Given the description of an element on the screen output the (x, y) to click on. 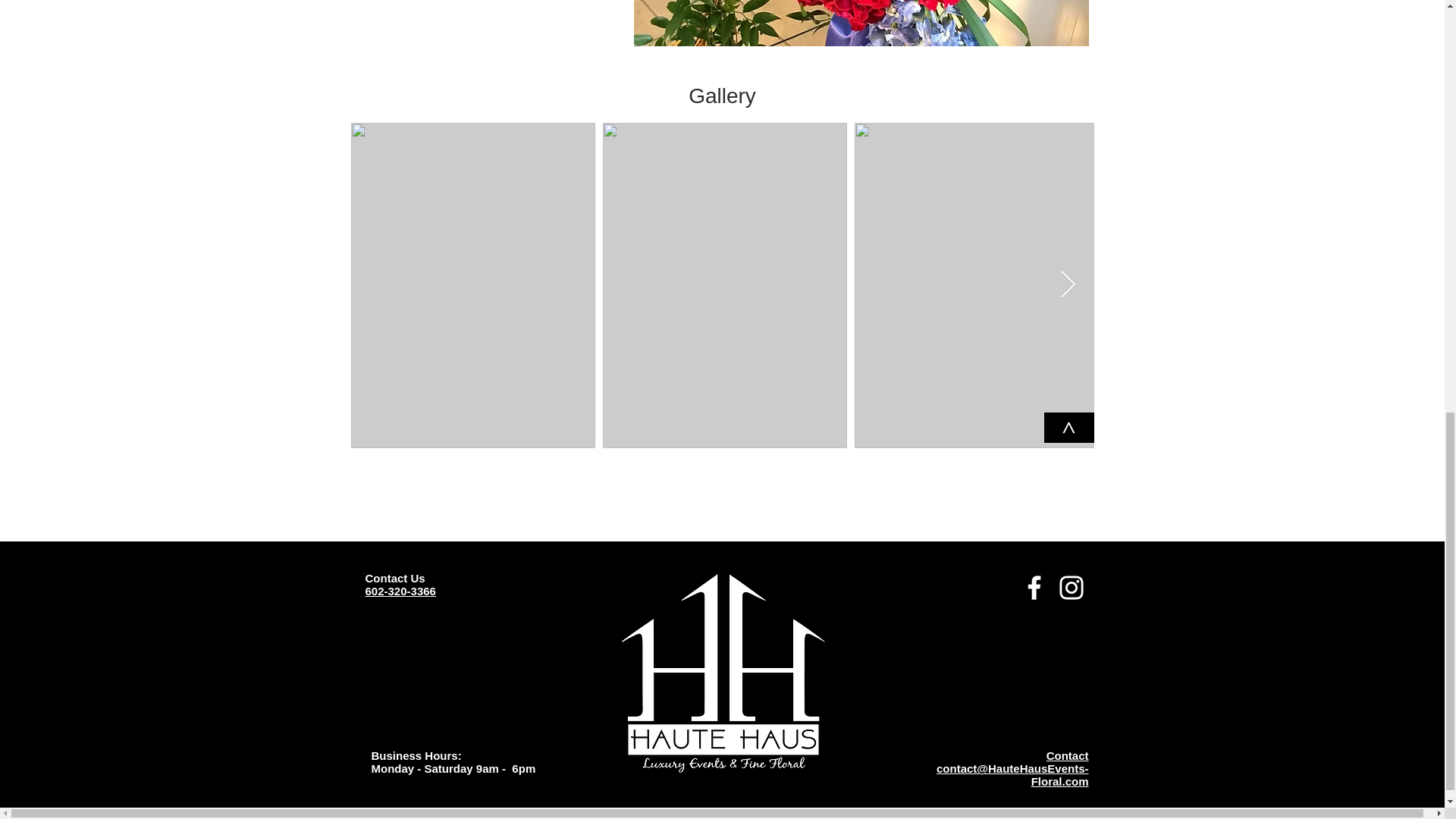
Contact (1067, 755)
602-320-3366 (400, 590)
